Given the description of an element on the screen output the (x, y) to click on. 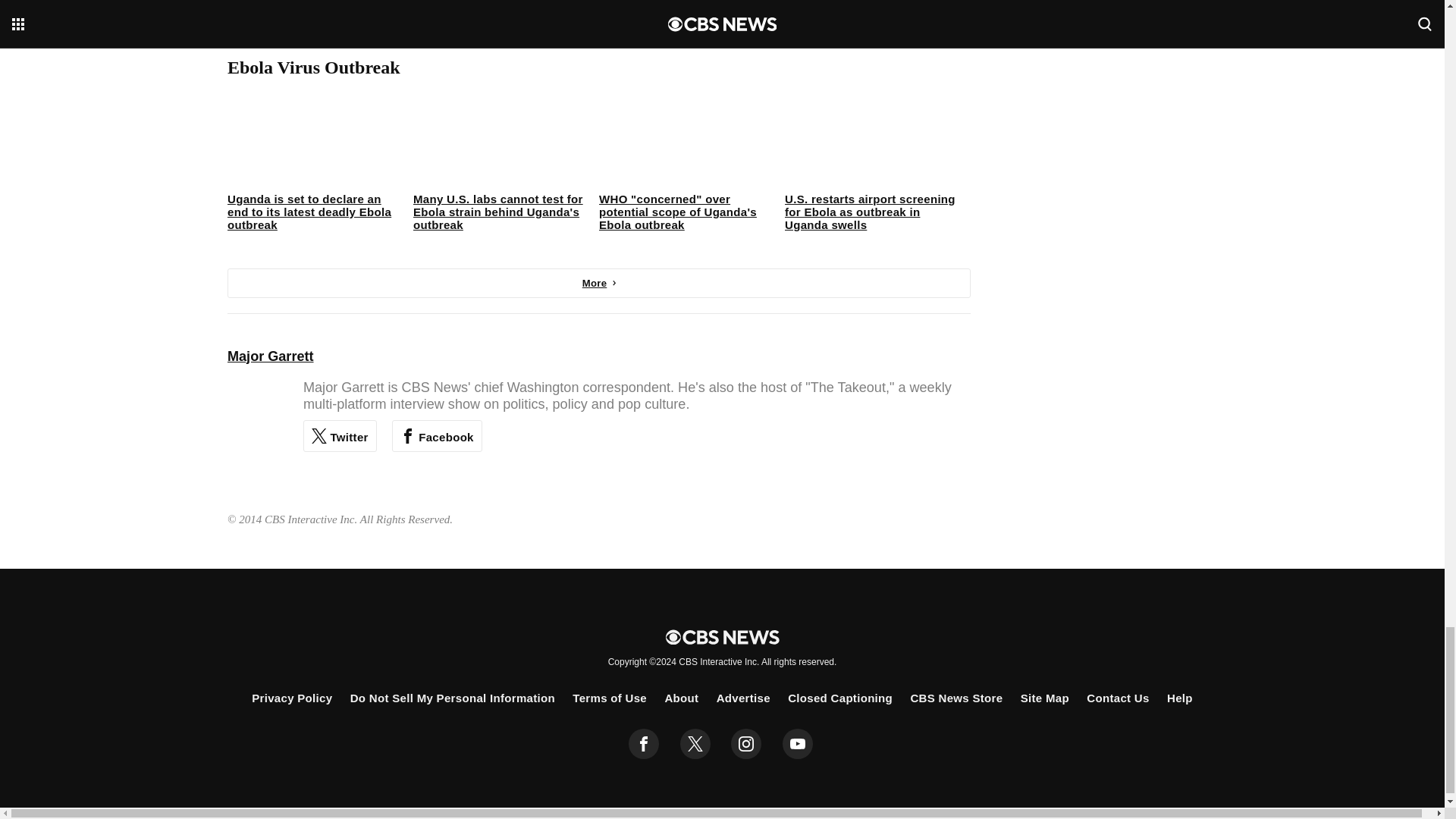
youtube (797, 743)
facebook (643, 743)
instagram (745, 743)
twitter (694, 743)
